Given the description of an element on the screen output the (x, y) to click on. 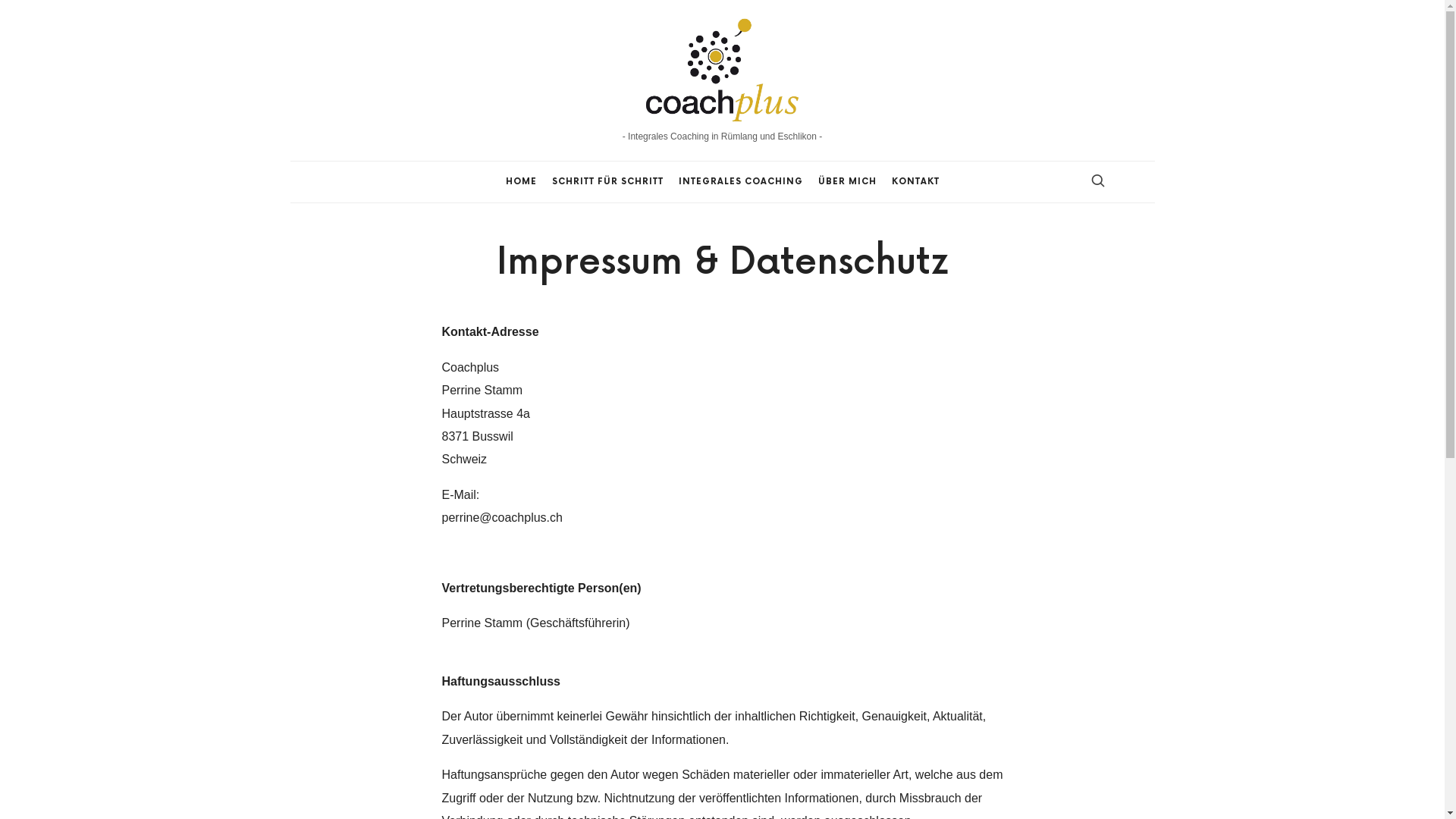
HOME Element type: text (520, 181)
Search Element type: text (39, 17)
KONTAKT Element type: text (915, 181)
INTEGRALES COACHING Element type: text (739, 181)
CoachPlus von Perrine Stamm Element type: text (722, 68)
